Given the description of an element on the screen output the (x, y) to click on. 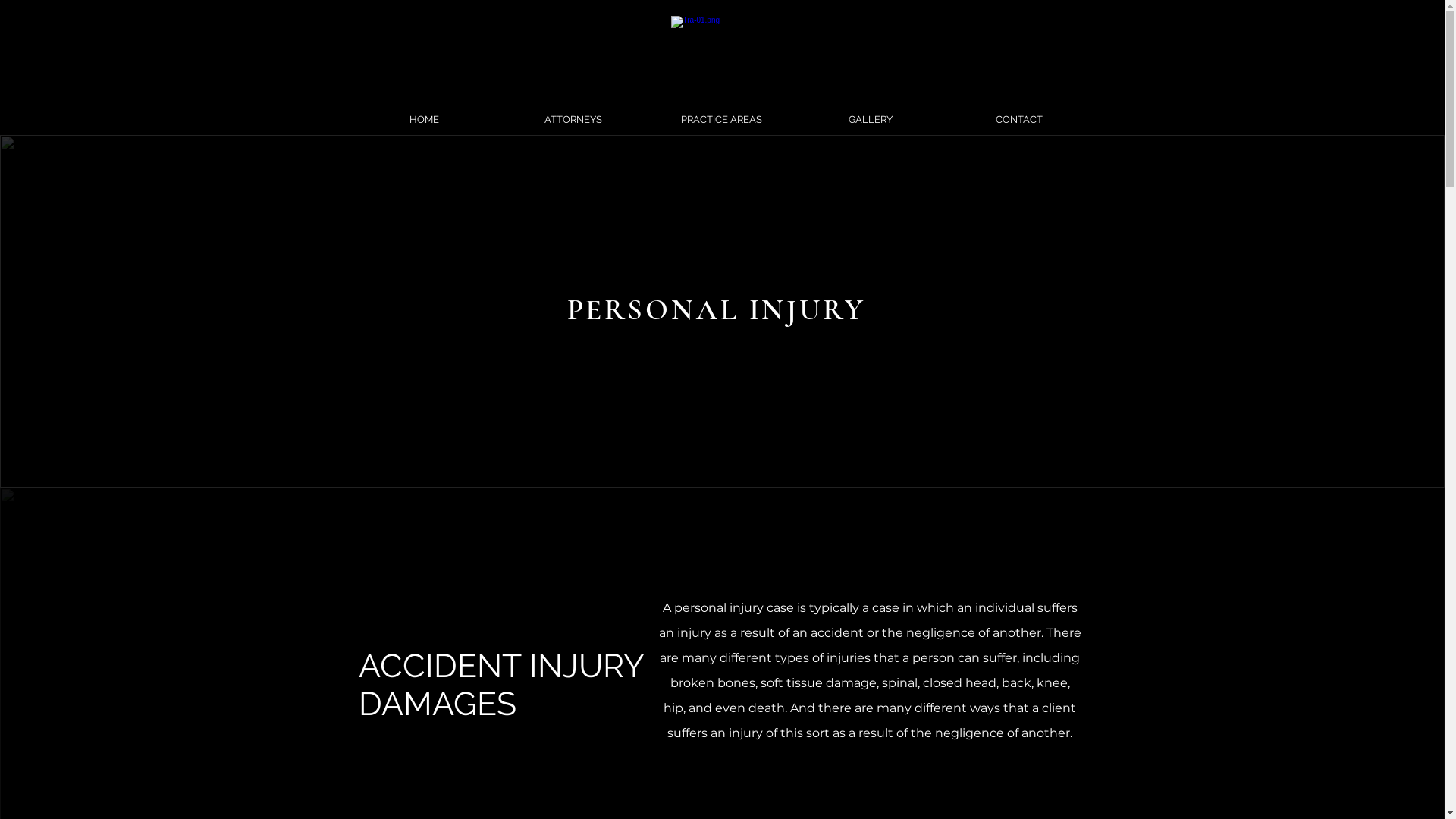
HOME Element type: text (424, 118)
GALLERY Element type: text (870, 118)
ATTORNEYS Element type: text (572, 118)
PRACTICE AREAS Element type: text (721, 118)
CONTACT Element type: text (1018, 118)
